Given the description of an element on the screen output the (x, y) to click on. 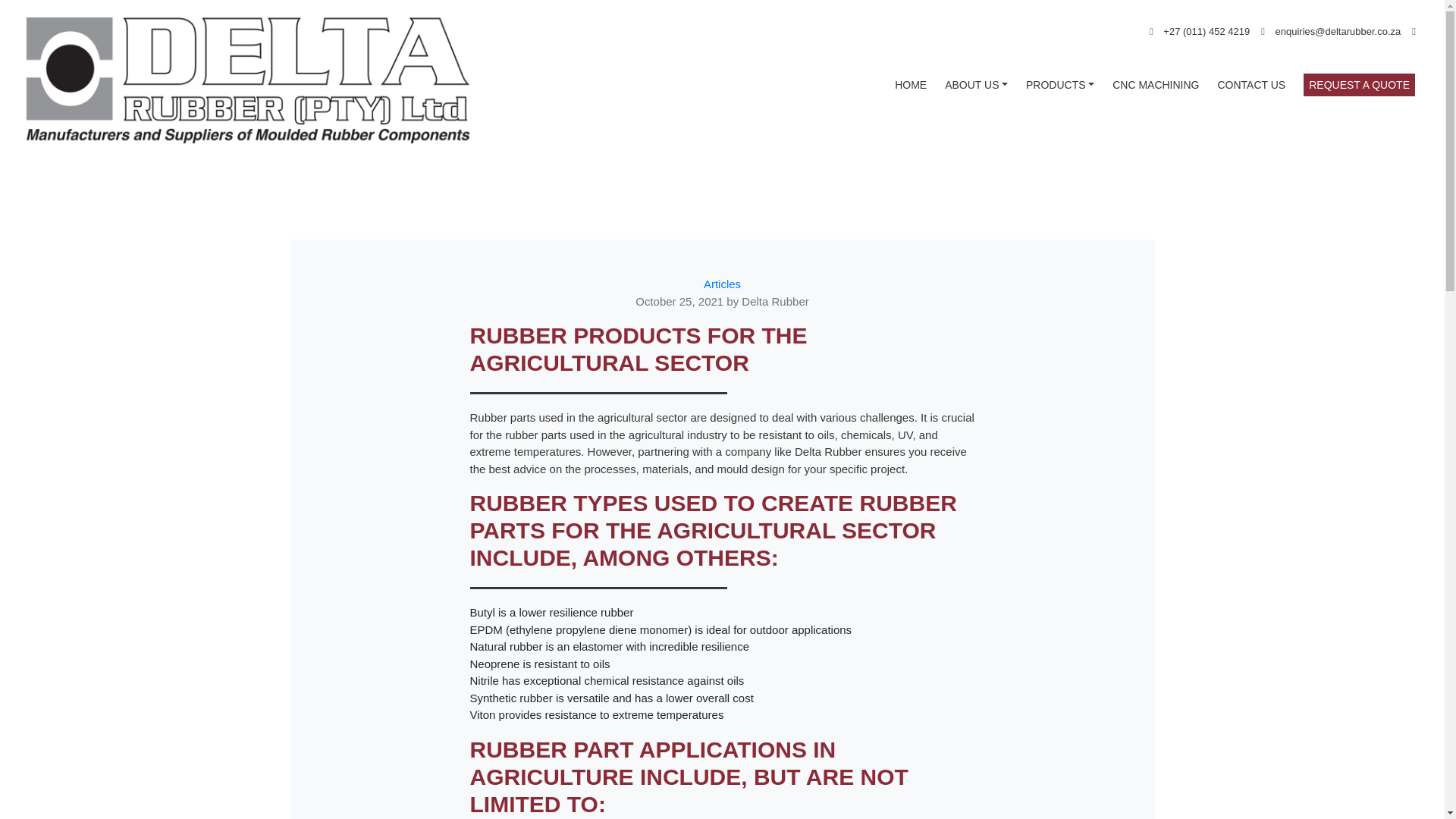
HOME (907, 85)
ABOUT US (973, 85)
CONTACT US (1248, 85)
REQUEST A QUOTE (1356, 85)
Articles (722, 283)
PRODUCTS (1056, 85)
CNC MACHINING (1152, 85)
